Given the description of an element on the screen output the (x, y) to click on. 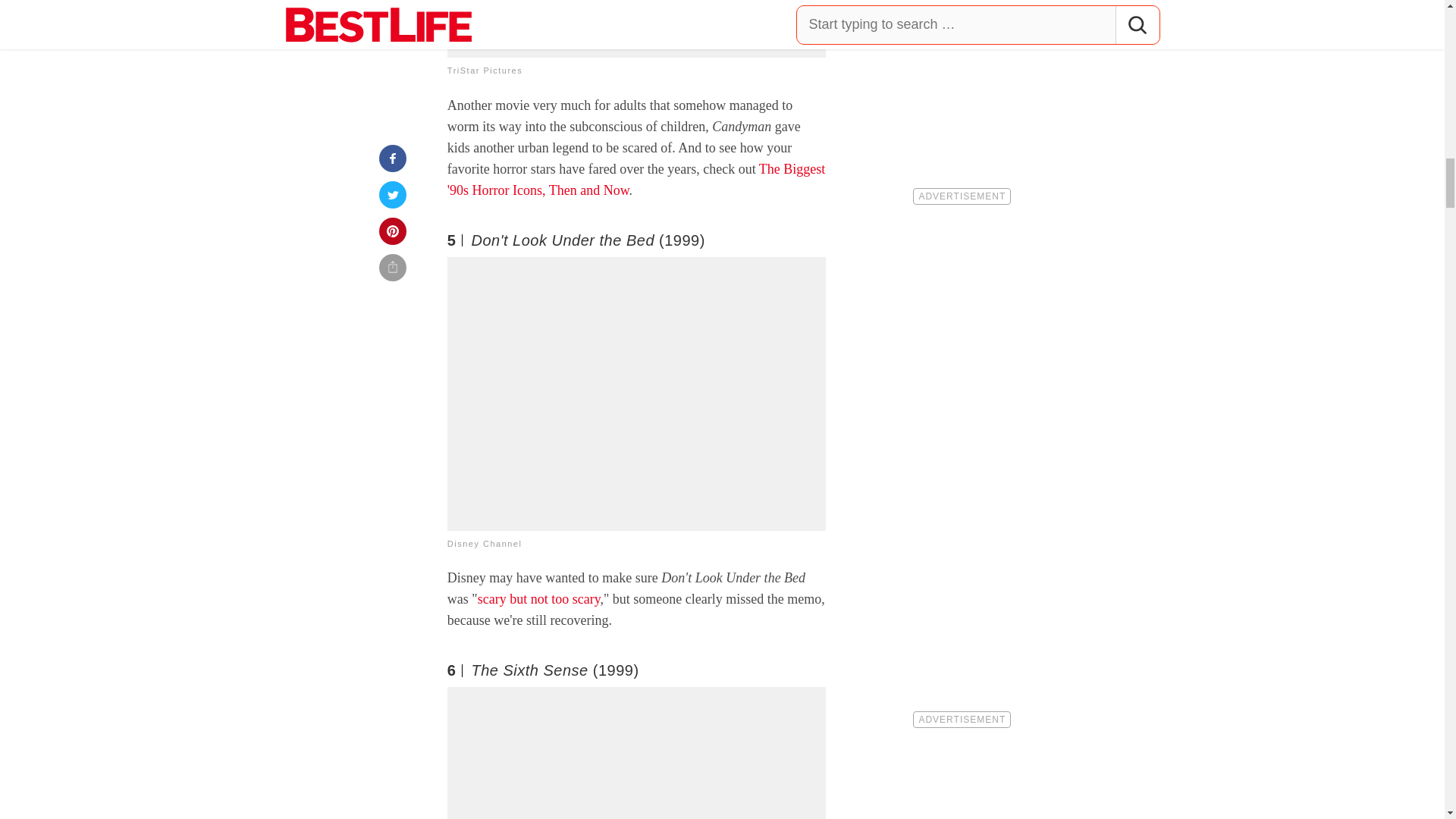
The Biggest '90s Horror Icons, Then and Now (635, 179)
